Given the description of an element on the screen output the (x, y) to click on. 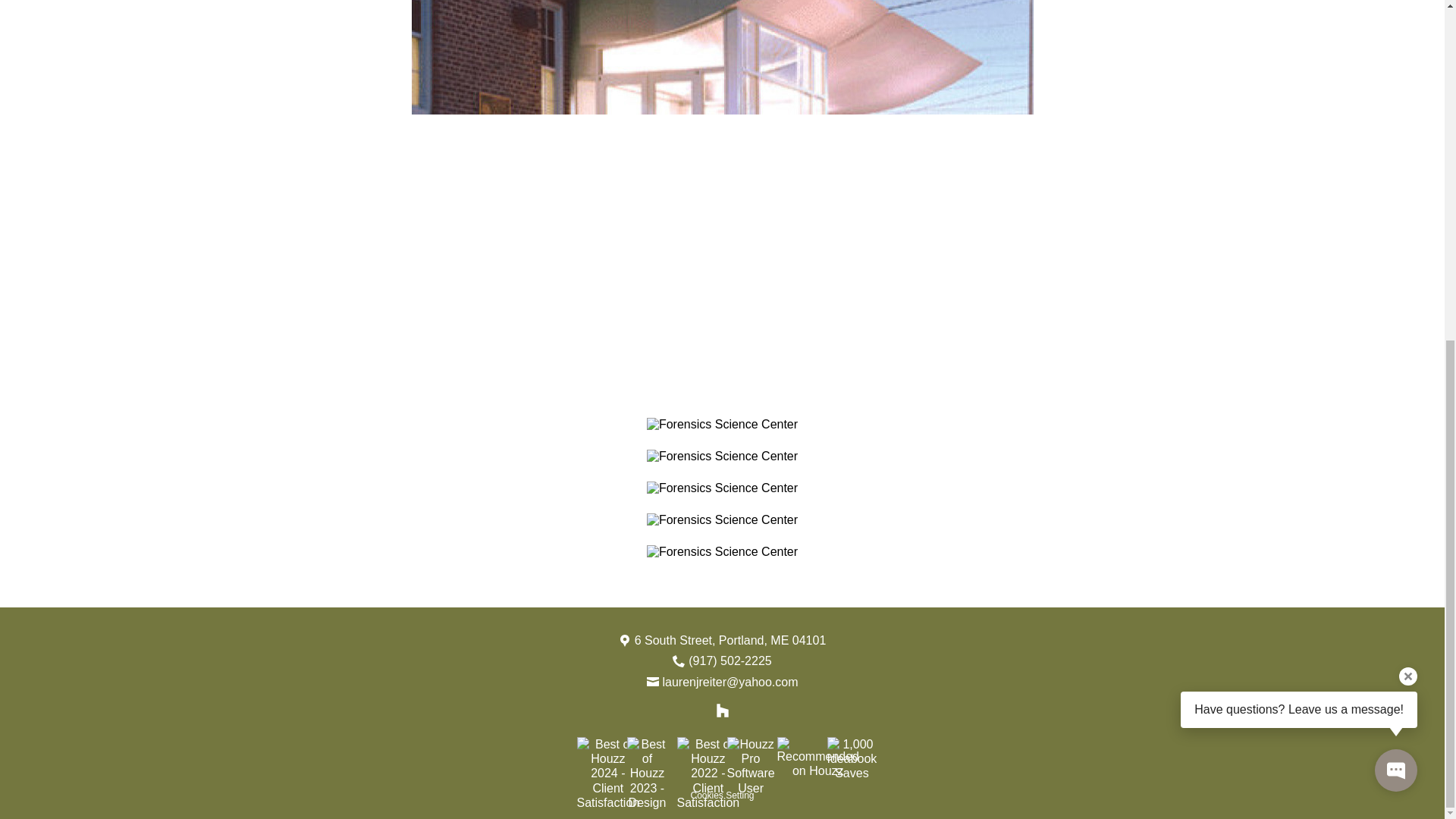
Close tooltip (1407, 99)
Cookies Setting (722, 795)
6 South Street, Portland, ME 04101 (730, 640)
